Given the description of an element on the screen output the (x, y) to click on. 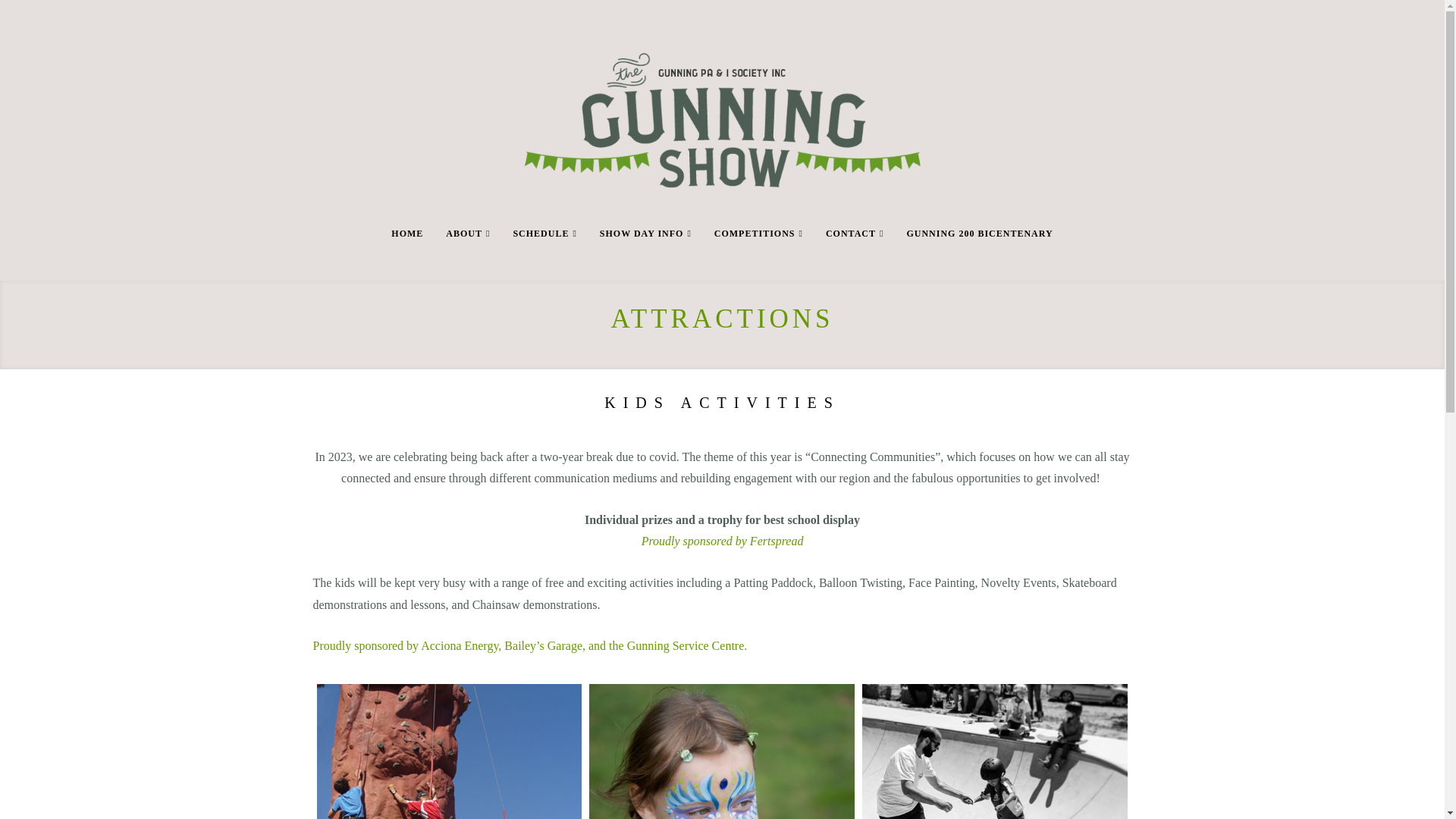
SHOW DAY INFO Element type: text (645, 253)
GUNNING 200 BICENTENARY Element type: text (979, 253)
COMPETITIONS Element type: text (758, 253)
CONTACT Element type: text (854, 253)
ABOUT Element type: text (467, 253)
SCHEDULE Element type: text (544, 253)
HOME Element type: text (407, 253)
